Given the description of an element on the screen output the (x, y) to click on. 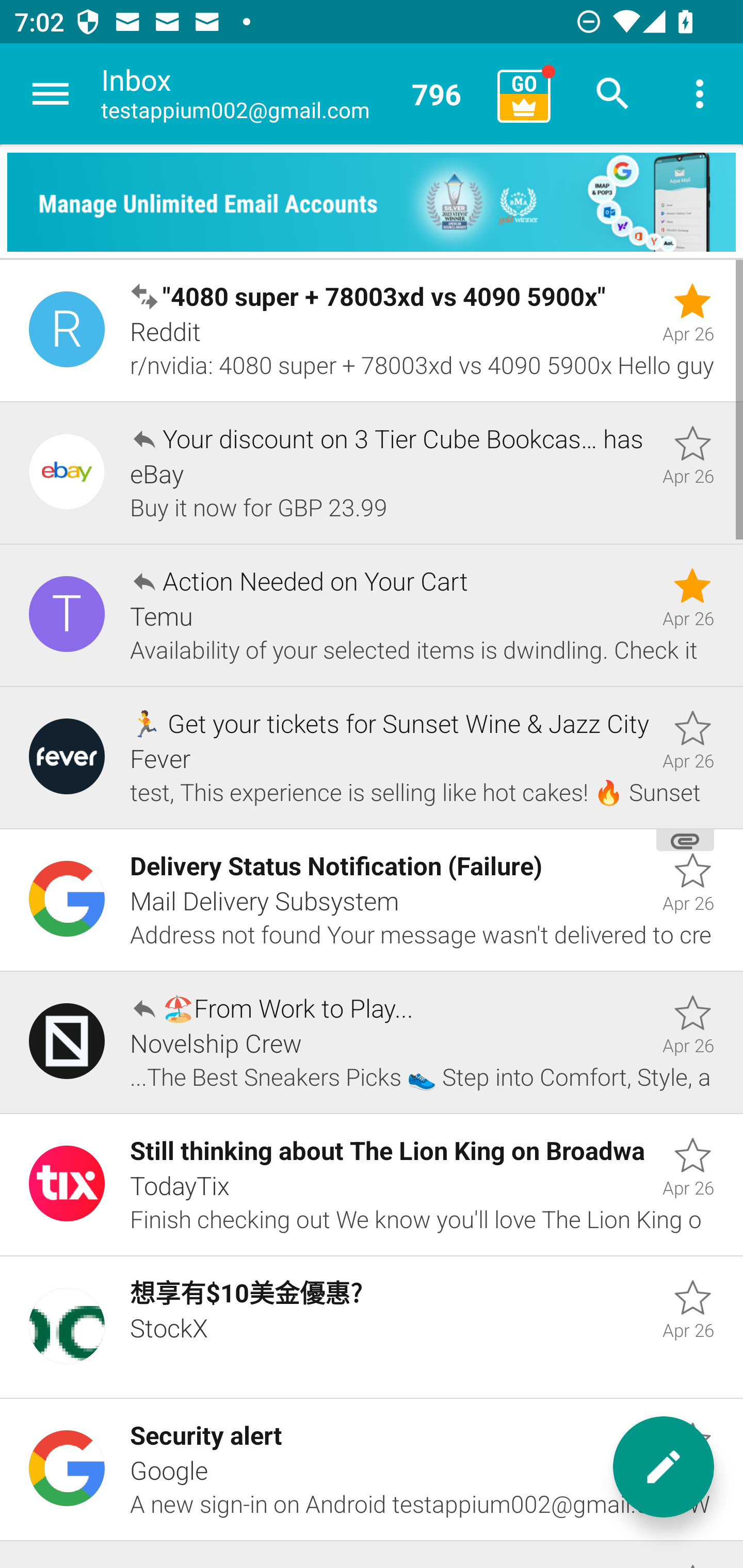
Navigate up (50, 93)
Inbox testappium002@gmail.com 796 (291, 93)
Search (612, 93)
More options (699, 93)
Unread, 想享有$10美金優惠?, StockX, Apr 26 (371, 1326)
New message (663, 1466)
